Given the description of an element on the screen output the (x, y) to click on. 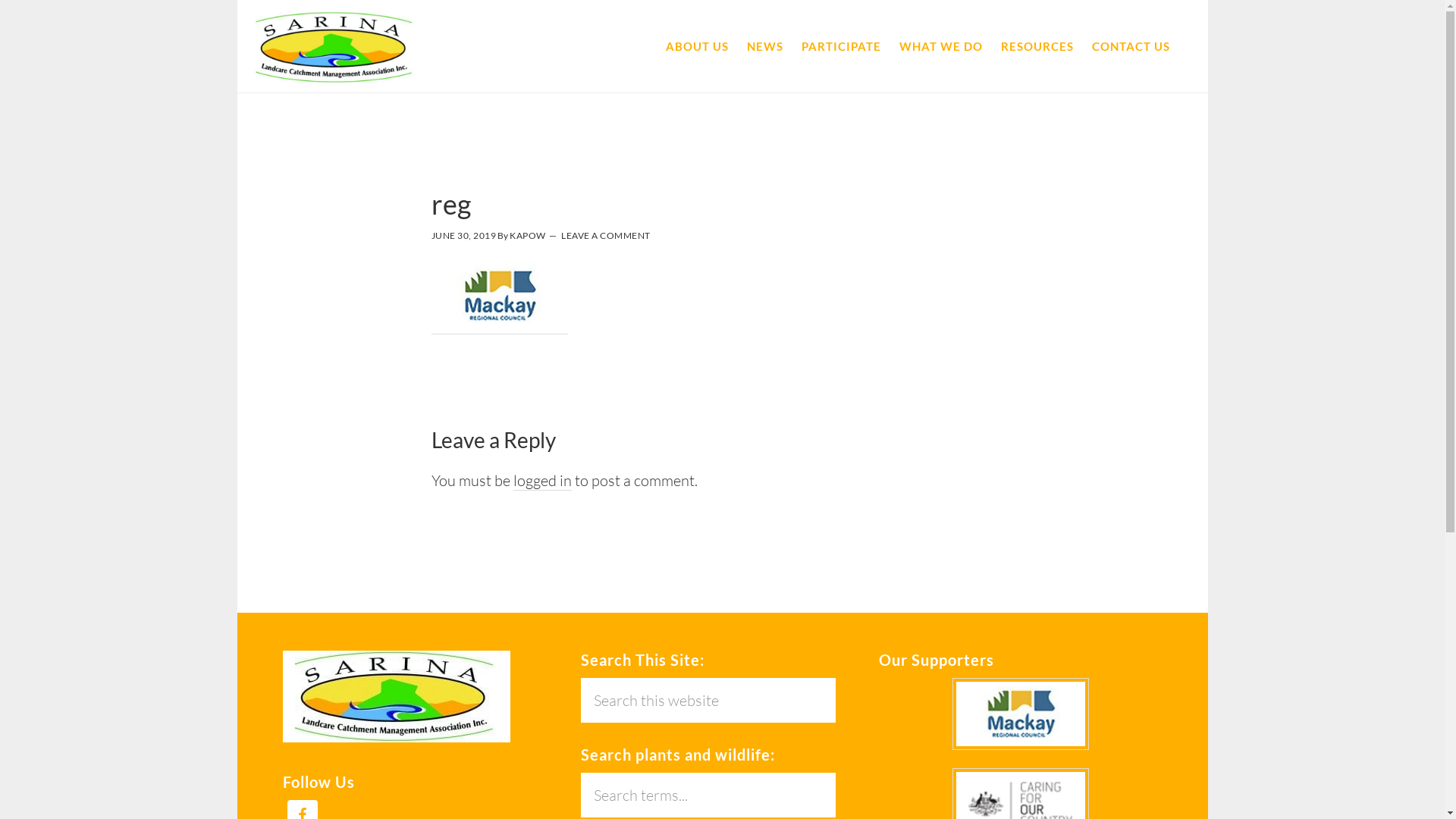
PARTICIPATE Element type: text (840, 46)
WHAT WE DO Element type: text (940, 46)
Search Element type: text (834, 677)
RESOURCES Element type: text (1037, 46)
Skip to main content Element type: text (236, 0)
CONTACT US Element type: text (1130, 46)
Search Element type: text (834, 771)
SARINA LANDCARE Element type: text (335, 47)
ABOUT US Element type: text (697, 46)
LEAVE A COMMENT Element type: text (605, 235)
NEWS Element type: text (764, 46)
KAPOW Element type: text (527, 235)
logged in Element type: text (541, 480)
